Given the description of an element on the screen output the (x, y) to click on. 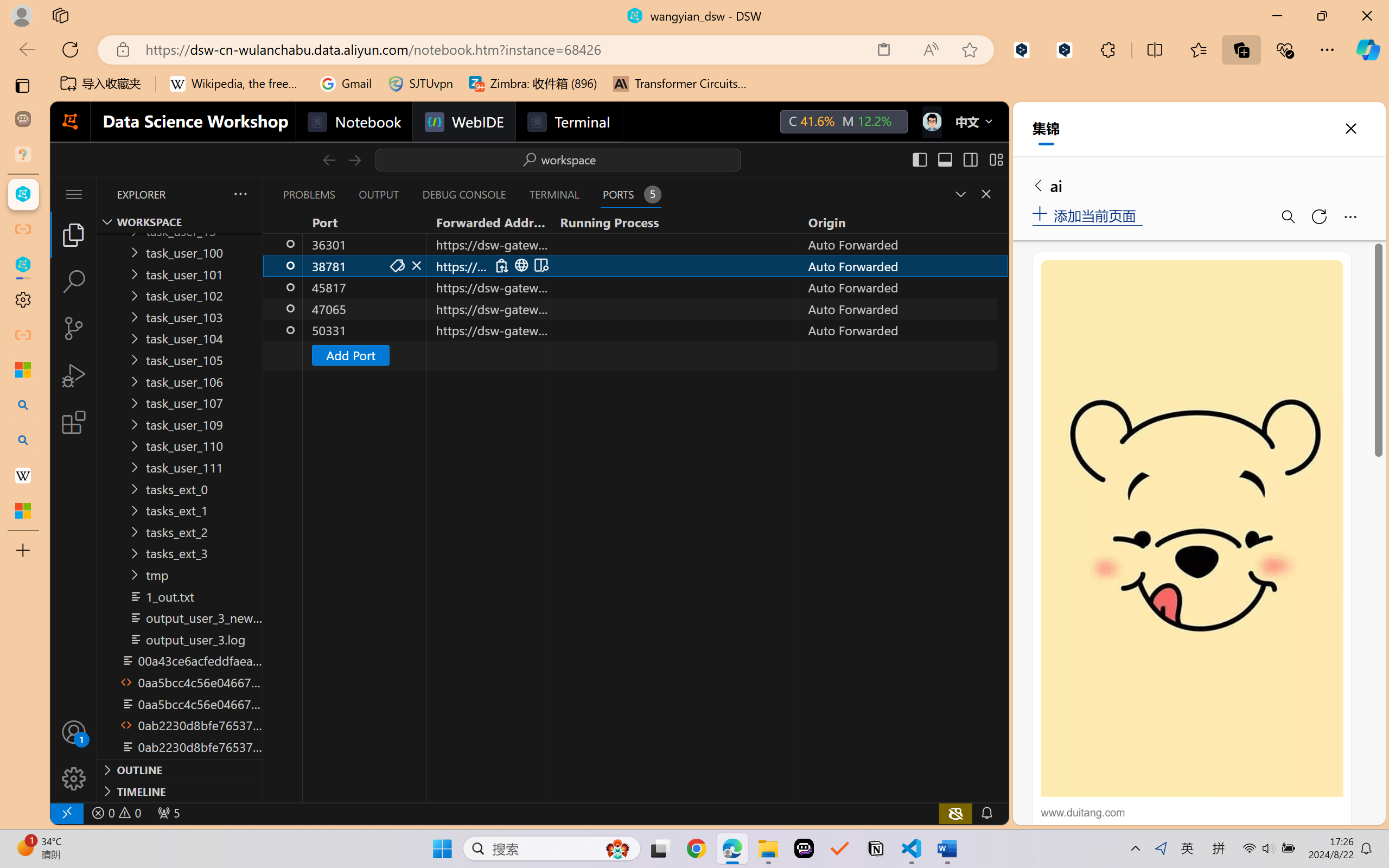
Debug Console (Ctrl+Shift+Y) (463, 194)
Add Port (349, 354)
Manage (73, 755)
Accounts - Sign in requested (73, 732)
Explorer actions (211, 194)
Copy Local Address (Ctrl+C) (501, 265)
Toggle Panel (Ctrl+J) (944, 159)
Title actions (957, 159)
Transformer Circuits Thread (680, 83)
Microsoft security help and learning (22, 369)
Copilot (Ctrl+Shift+.) (1368, 49)
wangyian_dsw - DSW (22, 194)
